Given the description of an element on the screen output the (x, y) to click on. 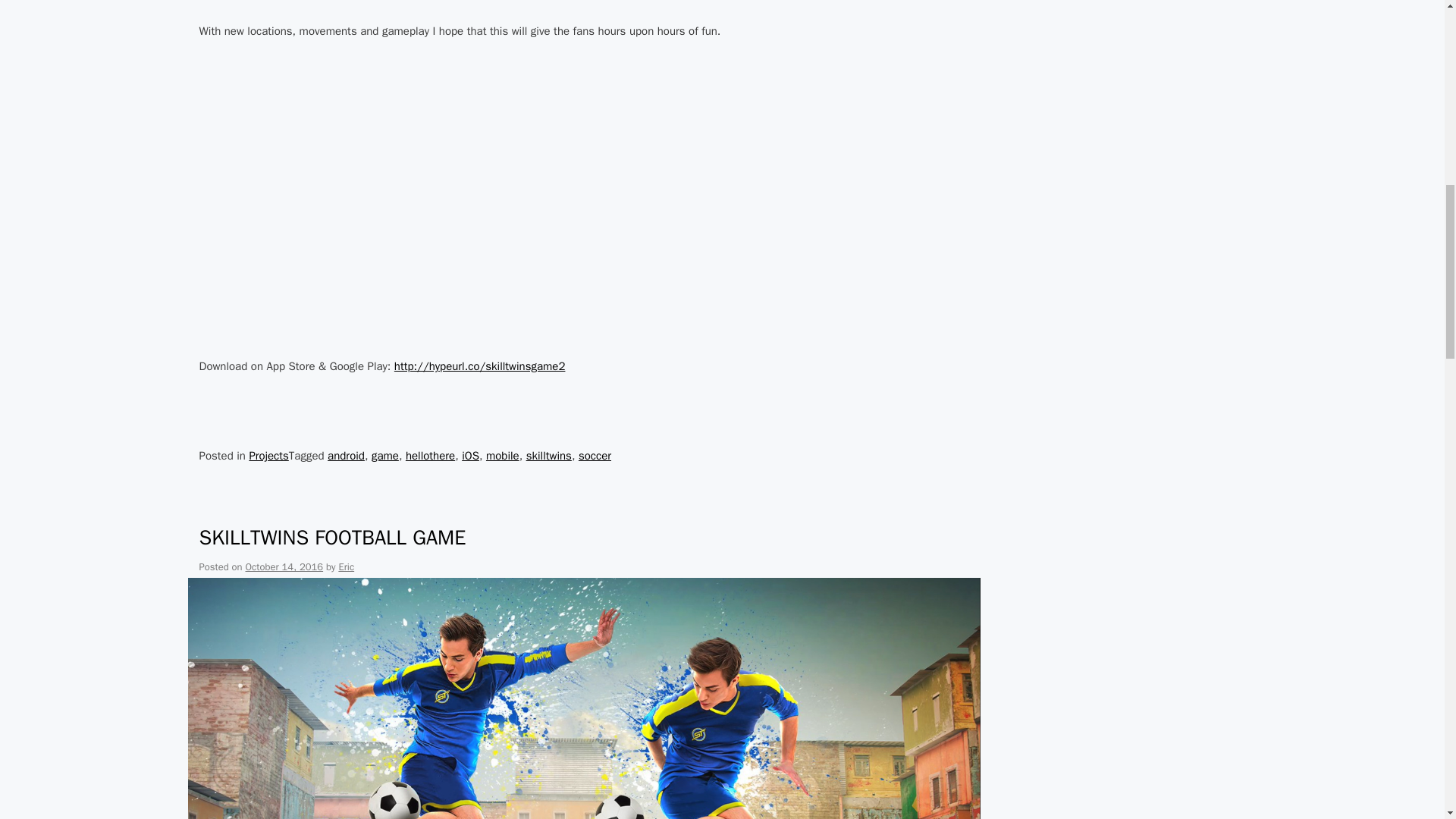
skilltwins (548, 455)
Eric (345, 566)
soccer (594, 455)
hellothere (430, 455)
SKILLTWINS FOOTBALL GAME (331, 537)
iOS (470, 455)
game (384, 455)
October 14, 2016 (284, 566)
mobile (502, 455)
Projects (268, 455)
android (346, 455)
